Given the description of an element on the screen output the (x, y) to click on. 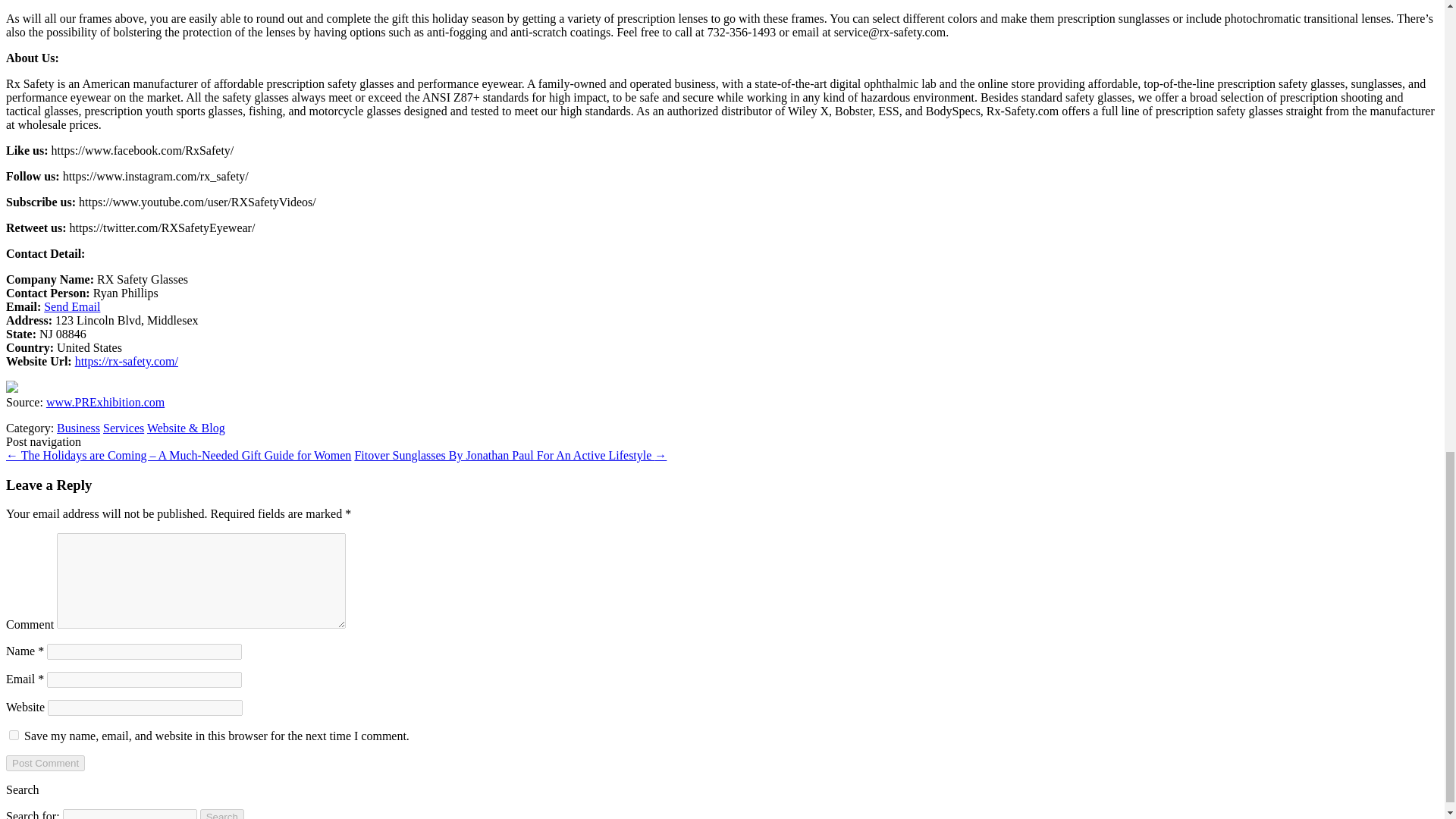
Post Comment (44, 763)
Business (78, 427)
yes (13, 735)
Services (123, 427)
Send Email (71, 306)
Post Comment (44, 763)
www.PRExhibition.com (105, 401)
